Given the description of an element on the screen output the (x, y) to click on. 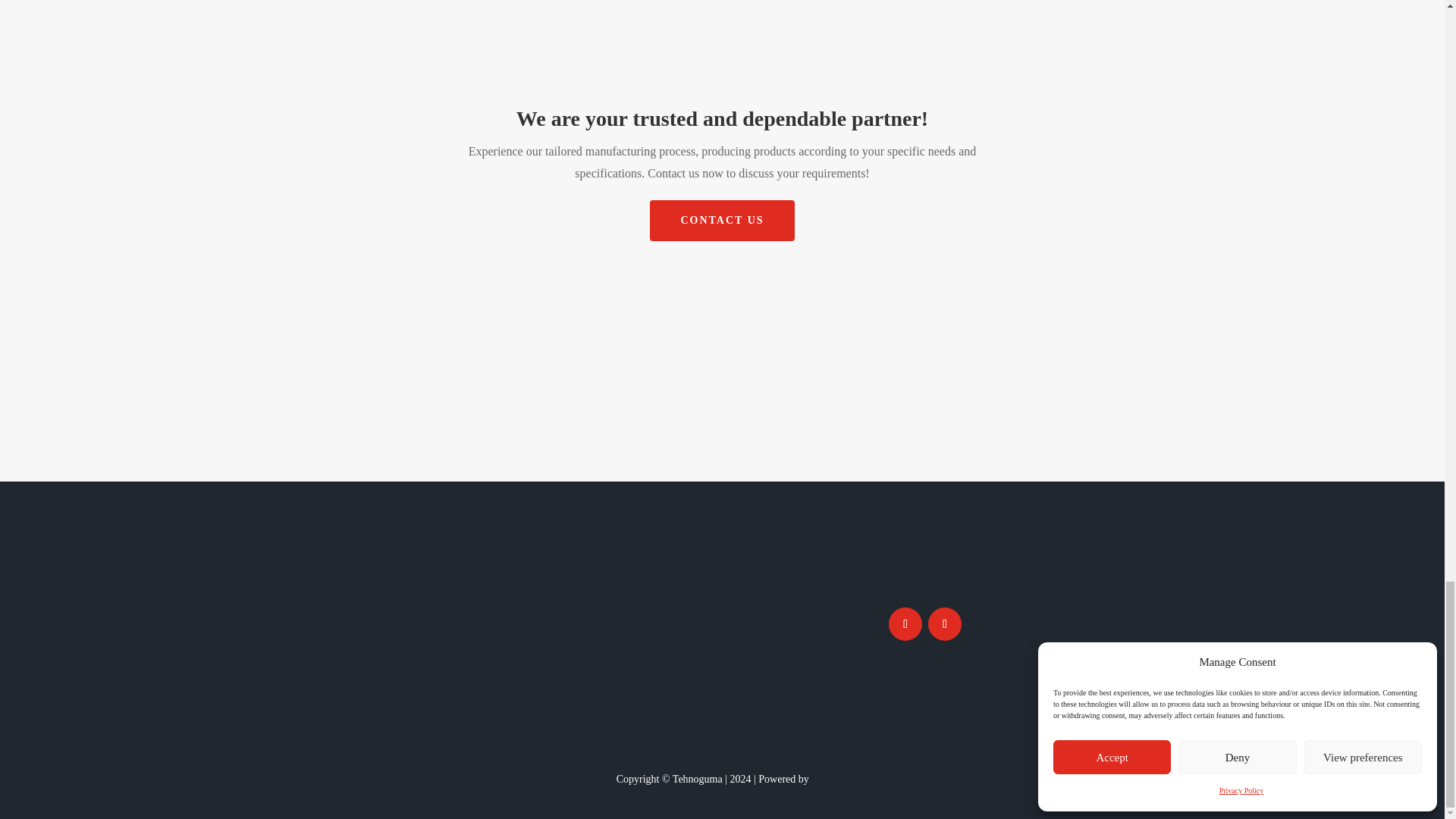
Follow on LinkedIn (944, 623)
CONTACT US (721, 219)
Follow on Facebook (904, 623)
